Given the description of an element on the screen output the (x, y) to click on. 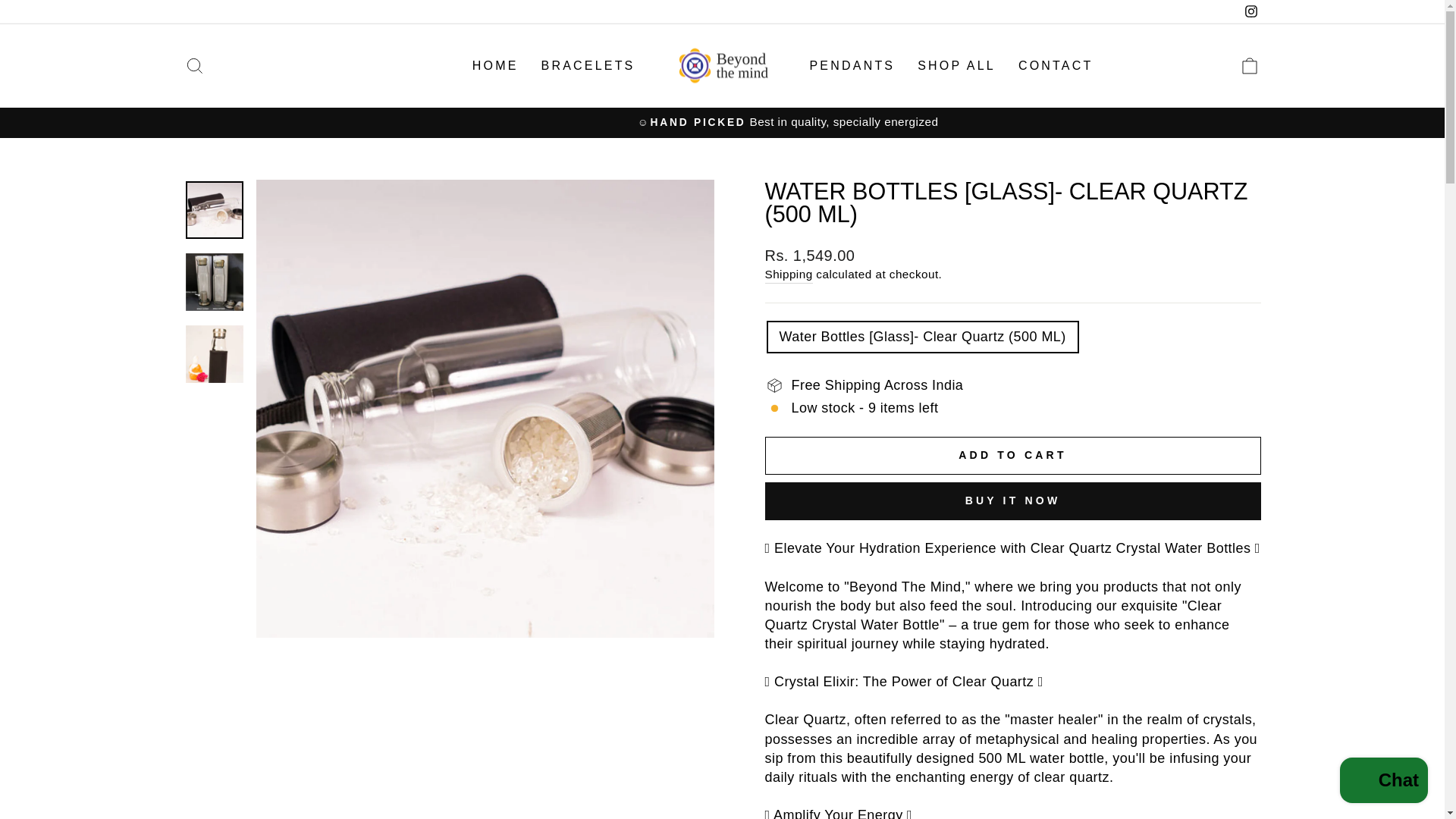
instagram (1250, 10)
Shipping (788, 274)
CONTACT (1056, 65)
ADD TO CART (1012, 455)
BUY IT NOW (1012, 501)
PENDANTS (1250, 11)
SHOP ALL (1249, 65)
HOME (851, 65)
ICON-BAG-MINIMAL (194, 65)
Beyond The Mind on Instagram (956, 65)
ICON-SEARCH (495, 65)
Shopify online store chat (1249, 65)
